Given the description of an element on the screen output the (x, y) to click on. 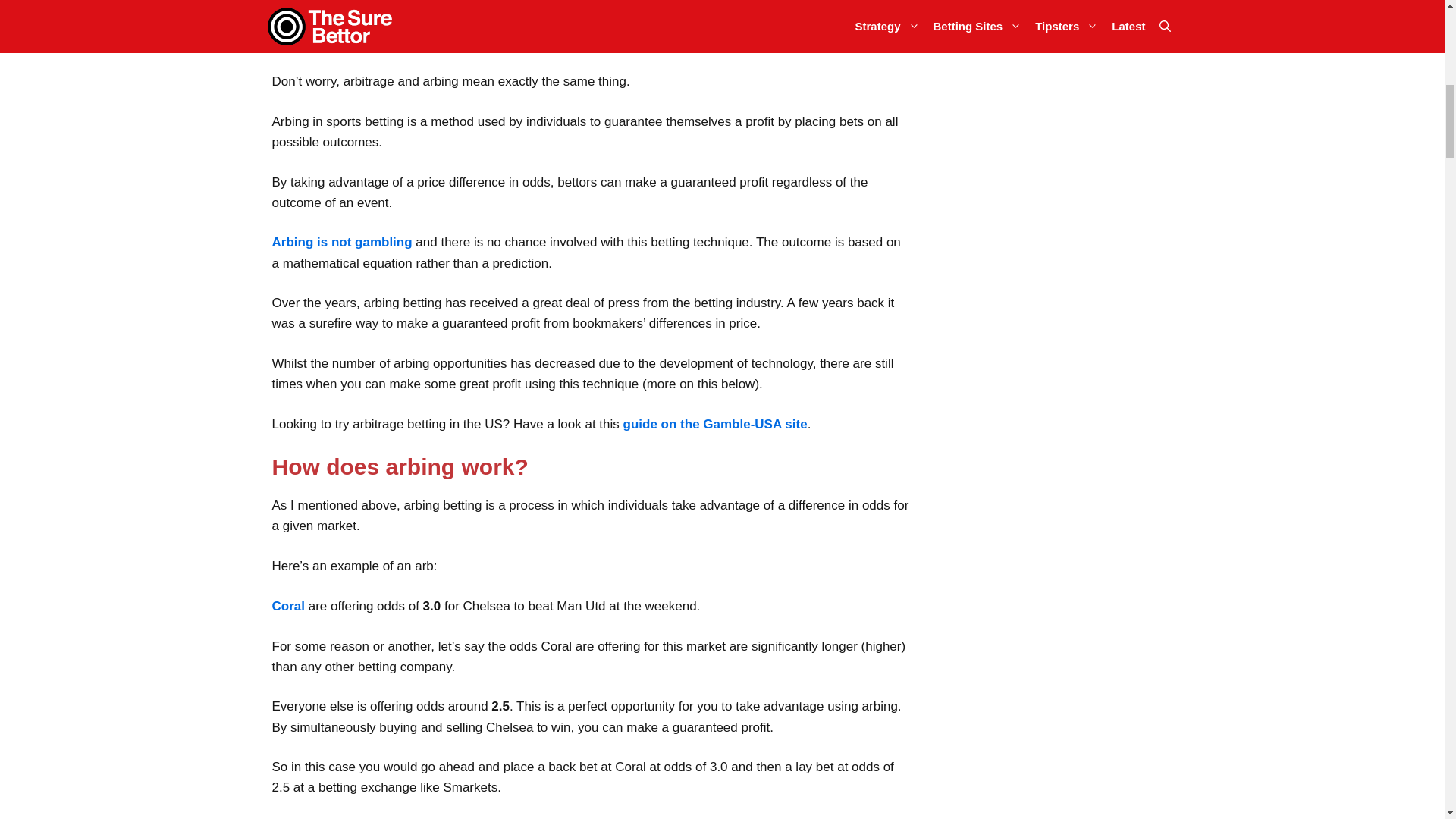
Coral (287, 605)
Scroll back to top (1406, 720)
guide on the Gamble-USA site (715, 423)
Arbing is not gambling (341, 242)
